Given the description of an element on the screen output the (x, y) to click on. 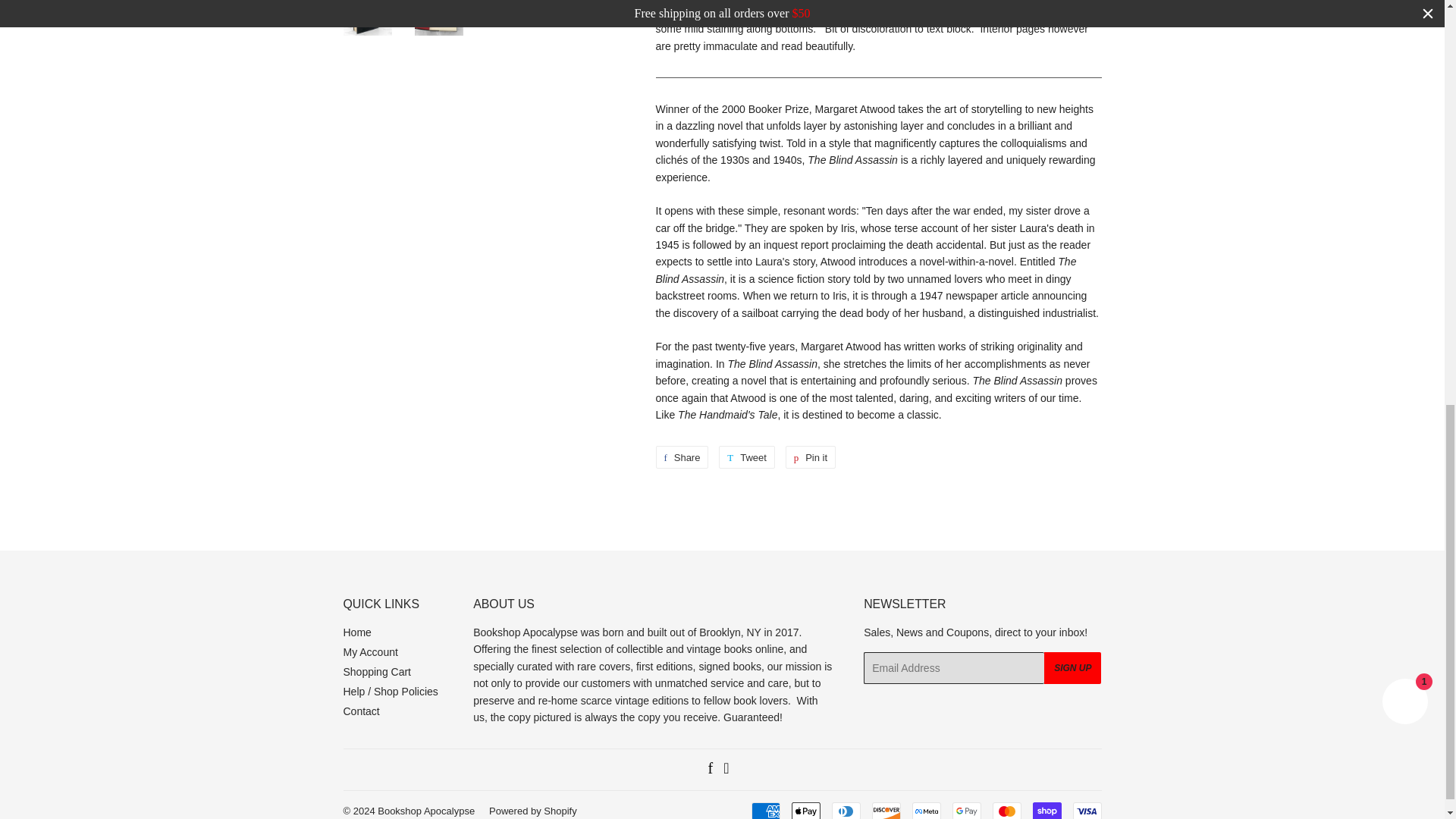
Meta Pay (925, 810)
Visa (1085, 810)
Pin on Pinterest (810, 456)
Diners Club (845, 810)
Tweet on Twitter (746, 456)
Google Pay (966, 810)
Share on Facebook (681, 456)
Discover (886, 810)
Mastercard (1005, 810)
Apple Pay (806, 810)
American Express (764, 810)
Shop Pay (1046, 810)
